Given the description of an element on the screen output the (x, y) to click on. 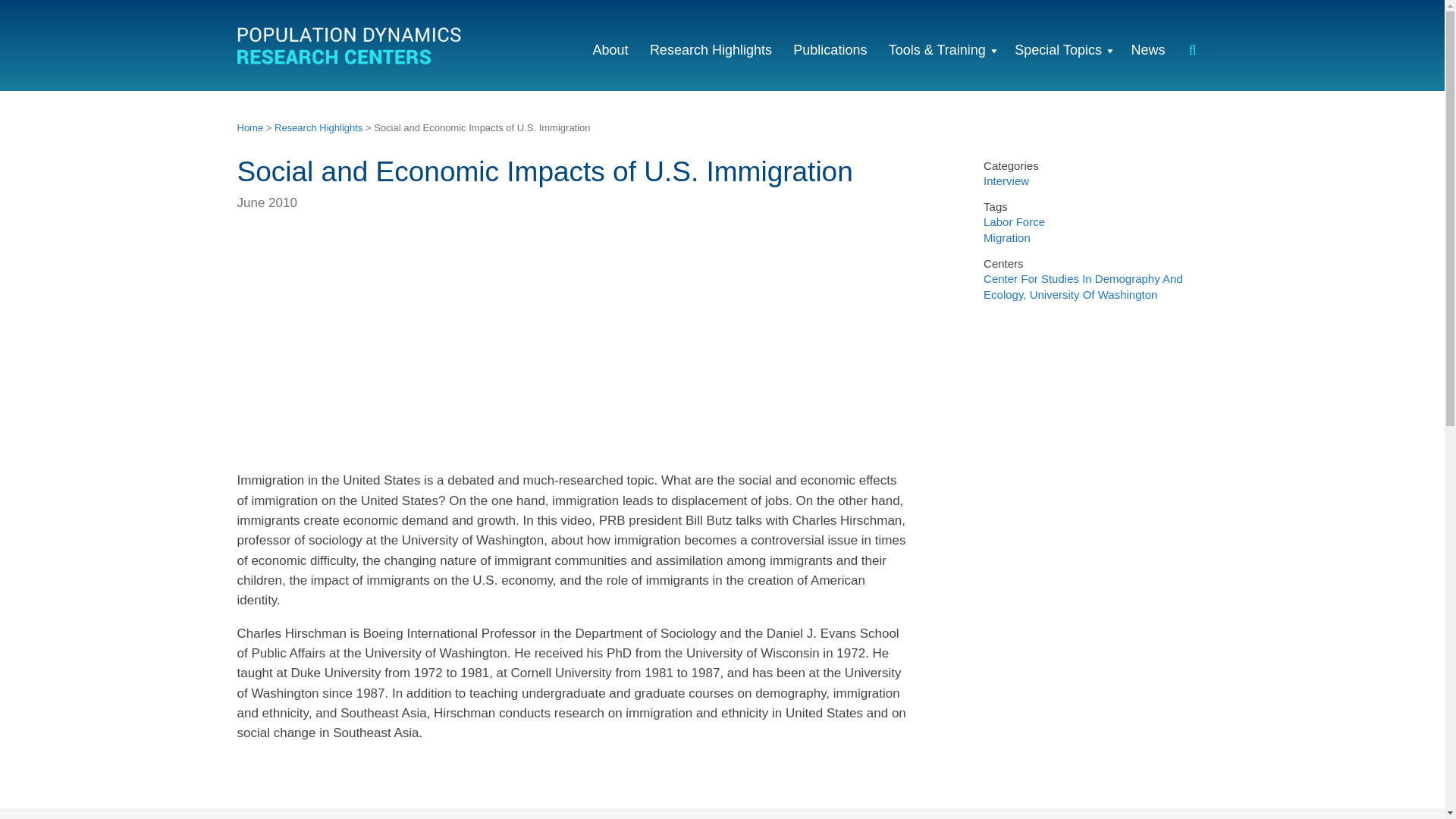
About (610, 46)
Interview (1006, 180)
News (1147, 46)
Home (249, 127)
Migration (1007, 237)
Labor Force (1014, 221)
Social and Economic Impacts of U.S. Immigration (425, 345)
Publications (830, 46)
Special Topics (1058, 46)
Research Highlights (710, 46)
Research Highlights (318, 127)
Population Dynamics Research Centers (349, 48)
